Given the description of an element on the screen output the (x, y) to click on. 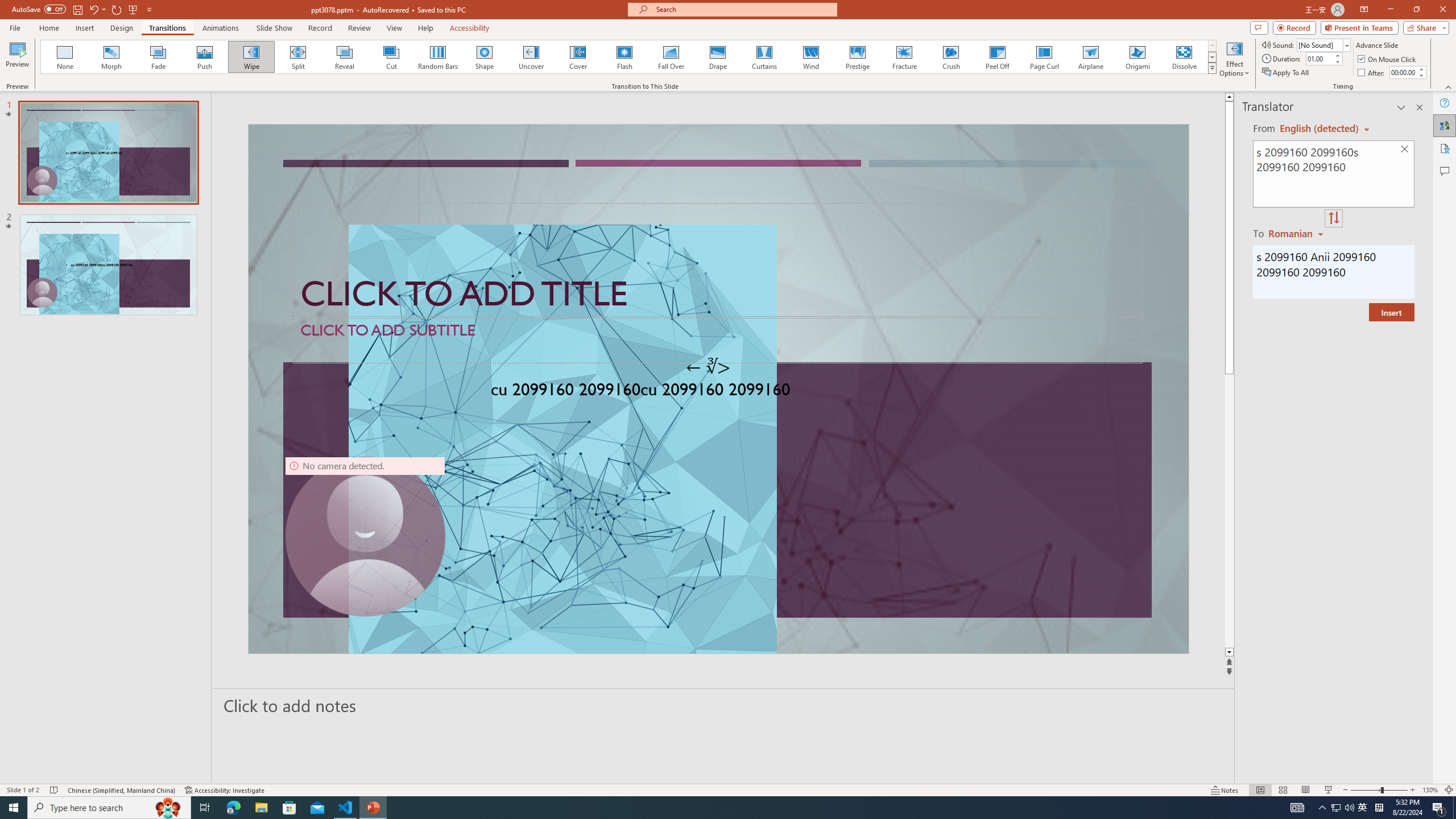
TextBox 61 (716, 391)
Apply To All (1286, 72)
Zoom 130% (1430, 790)
Fade (158, 56)
Slide (108, 264)
Less (1420, 75)
Wipe (251, 56)
After (1403, 72)
More (1420, 69)
Class: NetUIImage (1211, 68)
